Given the description of an element on the screen output the (x, y) to click on. 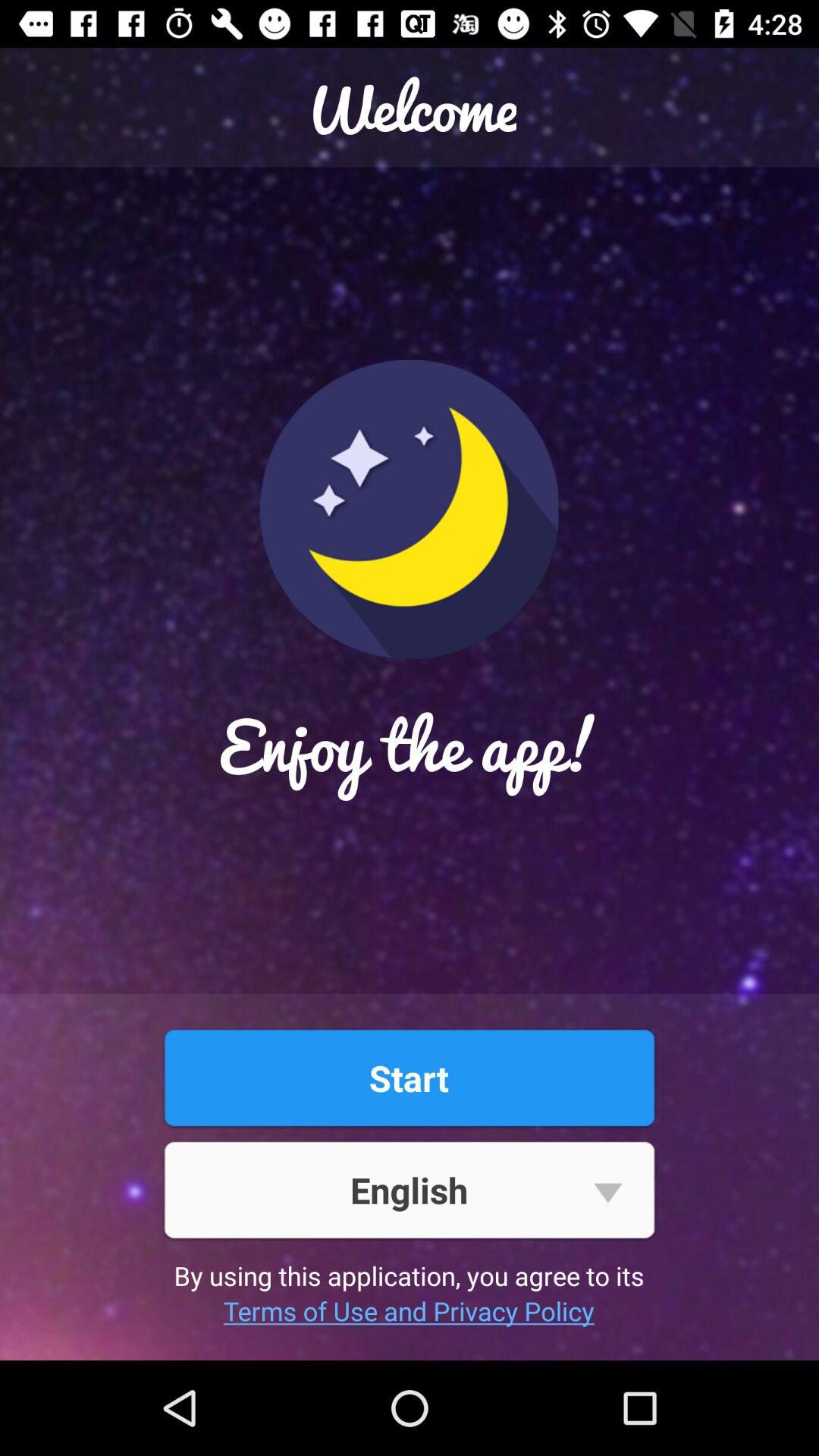
turn off button below the start (409, 1190)
